Given the description of an element on the screen output the (x, y) to click on. 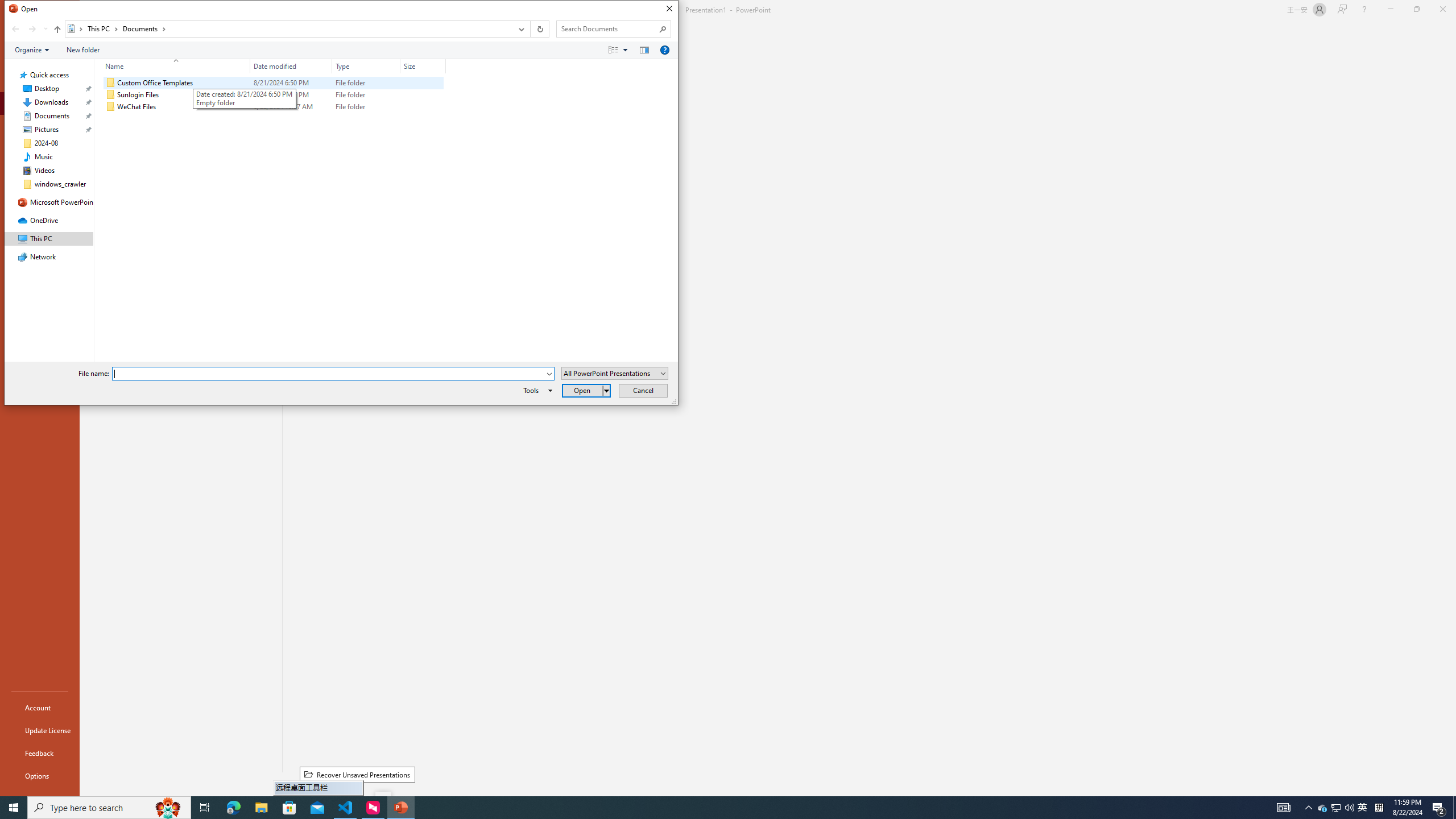
Sunlogin Files (273, 94)
Account (40, 707)
Previous Locations (520, 28)
Options (40, 775)
View Slider (625, 49)
WeChat Files (273, 106)
Size (422, 65)
Navigation buttons (28, 28)
Search Box (607, 28)
Filter dropdown (440, 65)
